Given the description of an element on the screen output the (x, y) to click on. 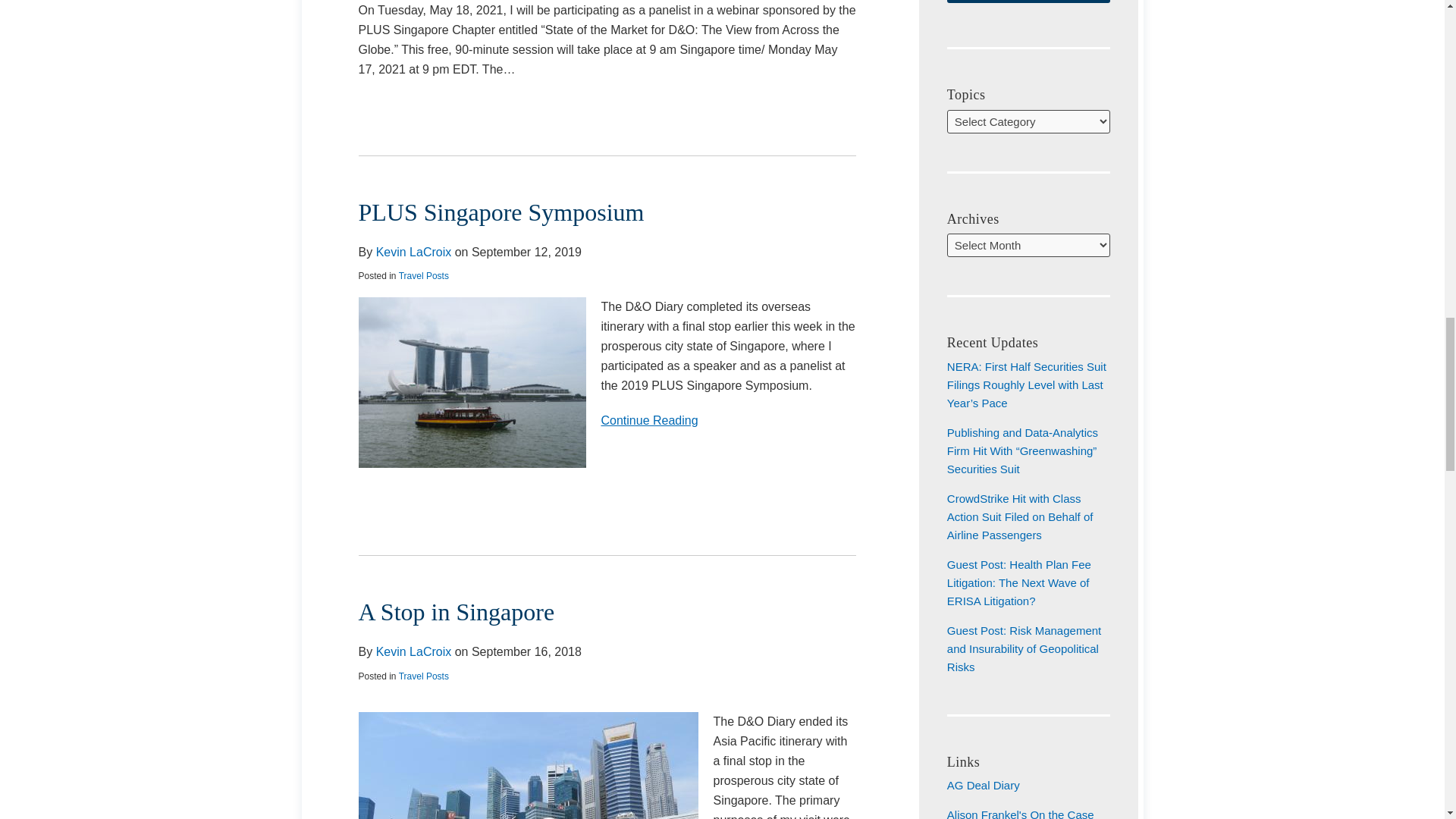
Travel Posts (423, 276)
Travel Posts (423, 675)
PLUS Singapore Symposium (500, 212)
Subscribe (1028, 1)
Kevin LaCroix (413, 651)
A Stop in Singapore (456, 611)
Kevin LaCroix (607, 420)
